Given the description of an element on the screen output the (x, y) to click on. 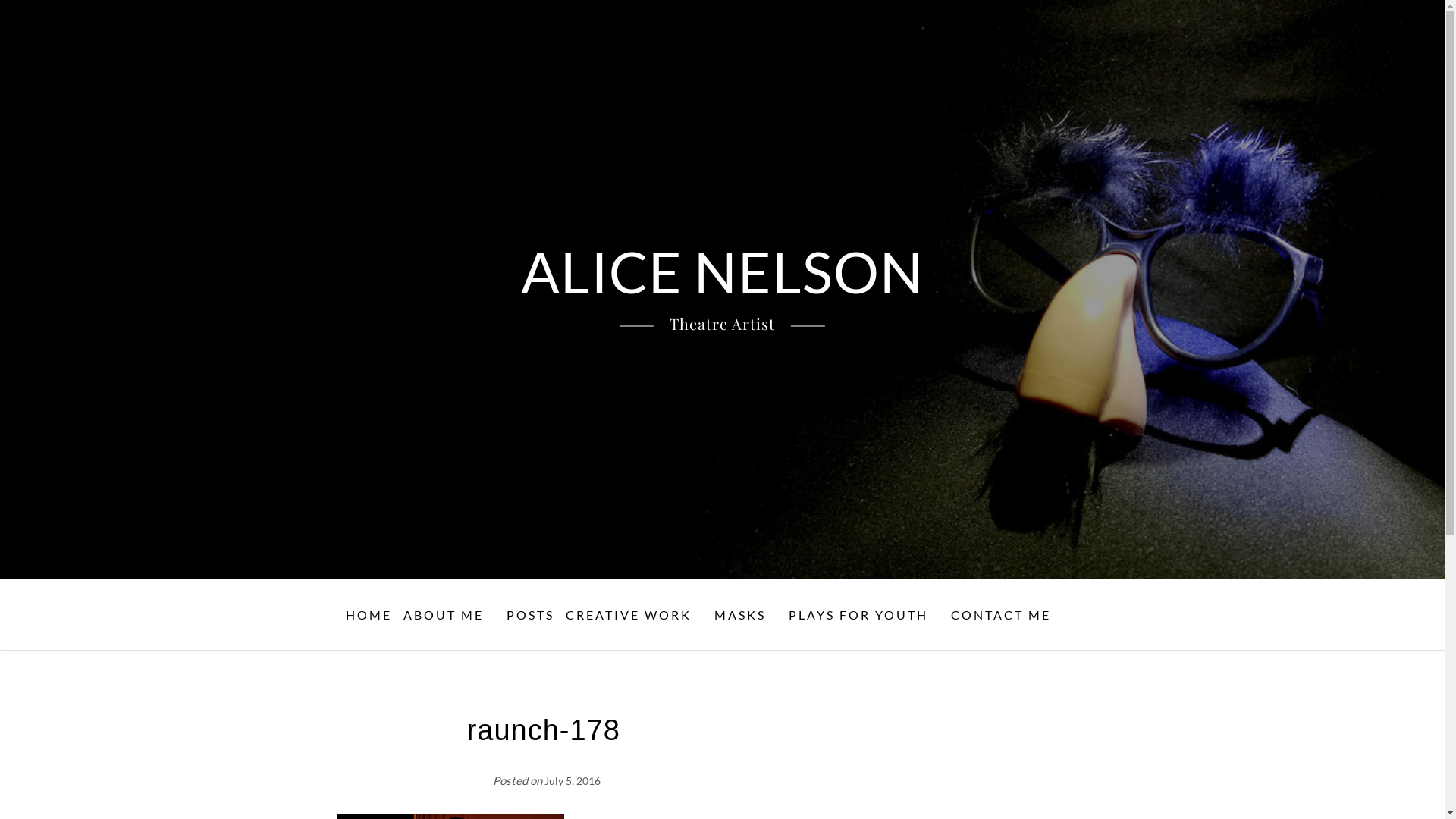
July 5, 2016 Element type: text (572, 780)
ABOUT ME Element type: text (448, 614)
POSTS Element type: text (530, 614)
CONTACT ME Element type: text (1006, 614)
HOME Element type: text (368, 614)
CREATIVE WORK Element type: text (634, 614)
PLAYS FOR YOUTH Element type: text (864, 614)
Search Element type: text (1400, 665)
MASKS Element type: text (745, 614)
ALICE NELSON Element type: text (721, 271)
